Given the description of an element on the screen output the (x, y) to click on. 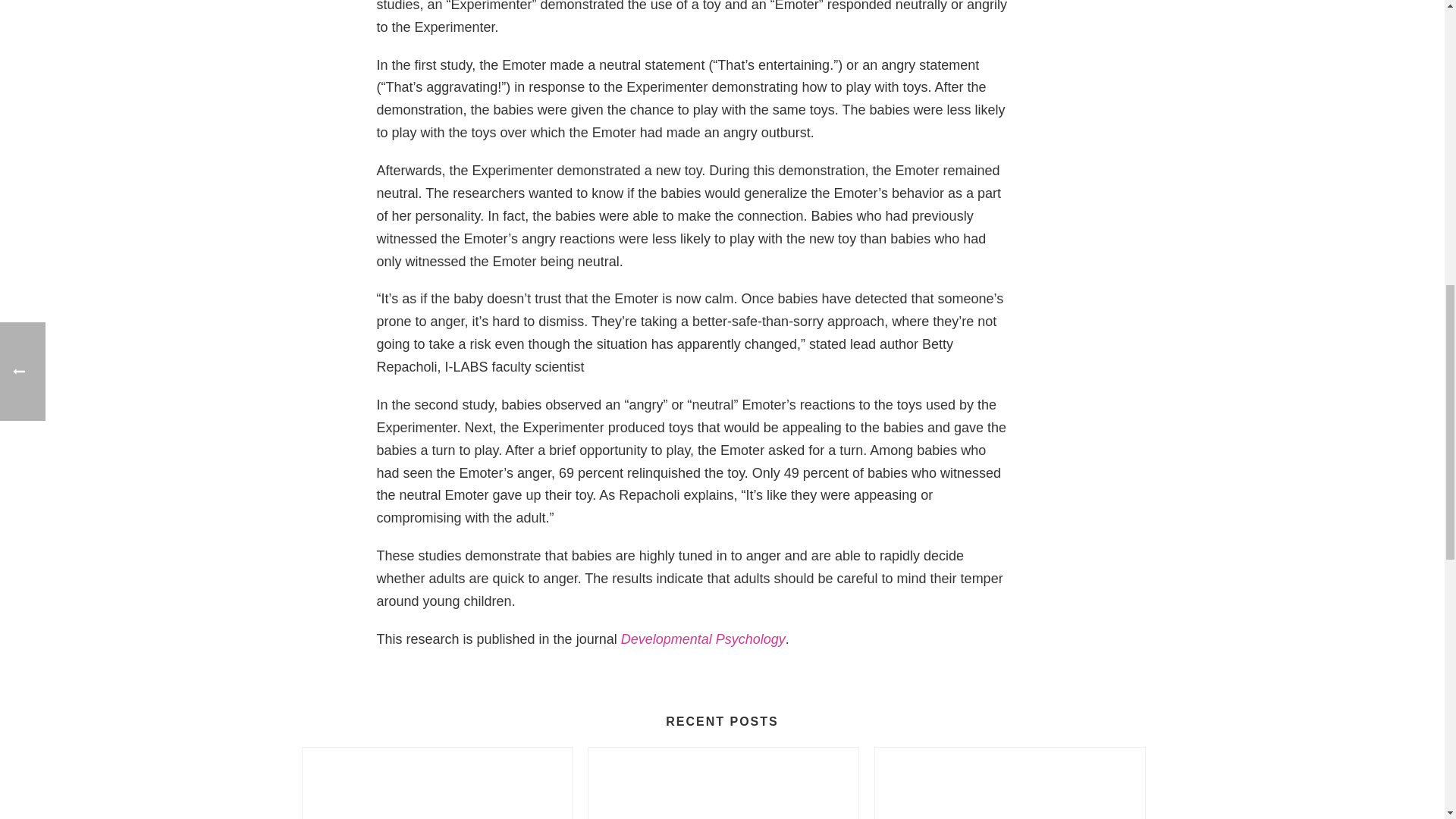
10 common signs of a dysregulated nervous system (723, 783)
5 Ways to Regulate Your Nervous System (436, 783)
Using Music for Healing (1009, 783)
